Given the description of an element on the screen output the (x, y) to click on. 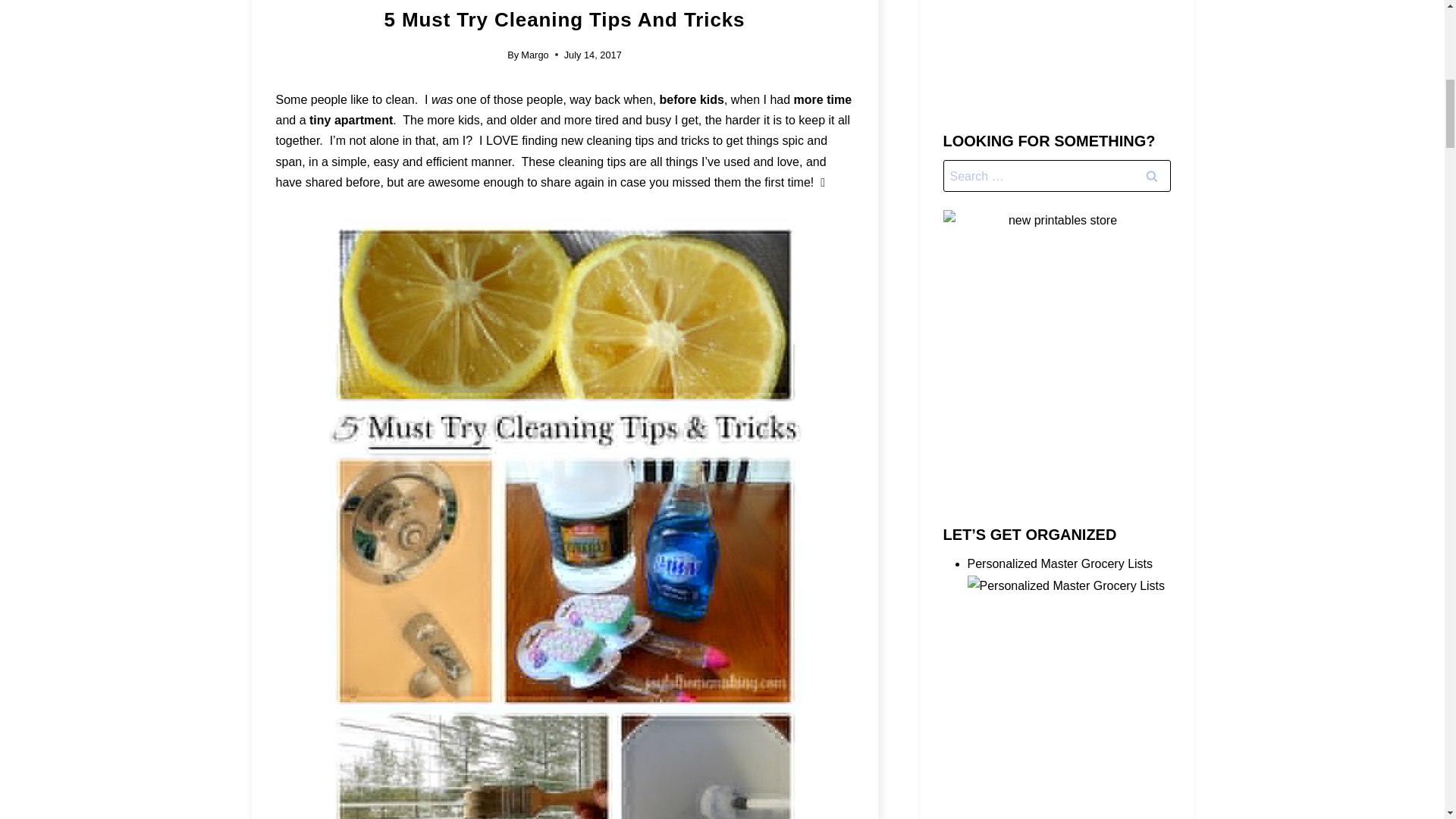
Search (1151, 175)
Search (1151, 175)
